Given the description of an element on the screen output the (x, y) to click on. 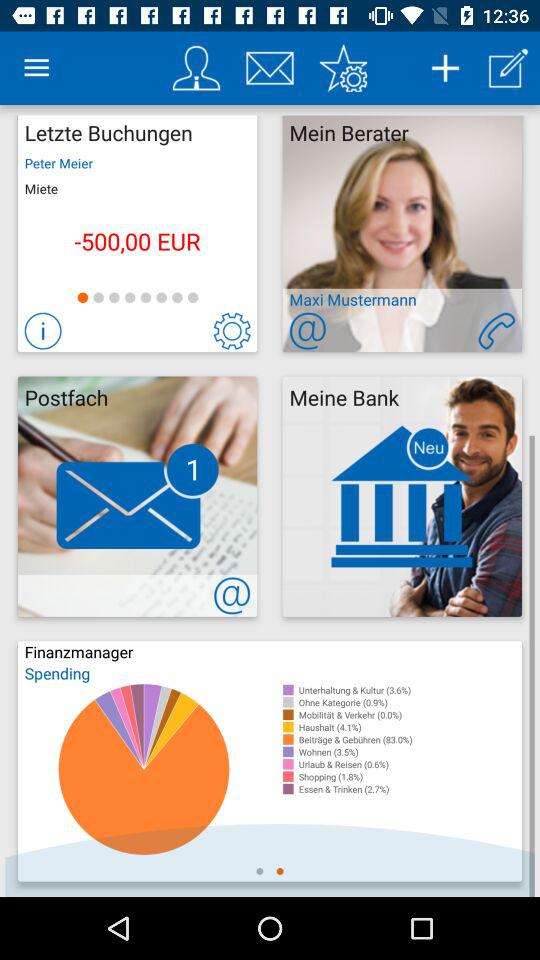
launch the item below spending item (409, 689)
